Given the description of an element on the screen output the (x, y) to click on. 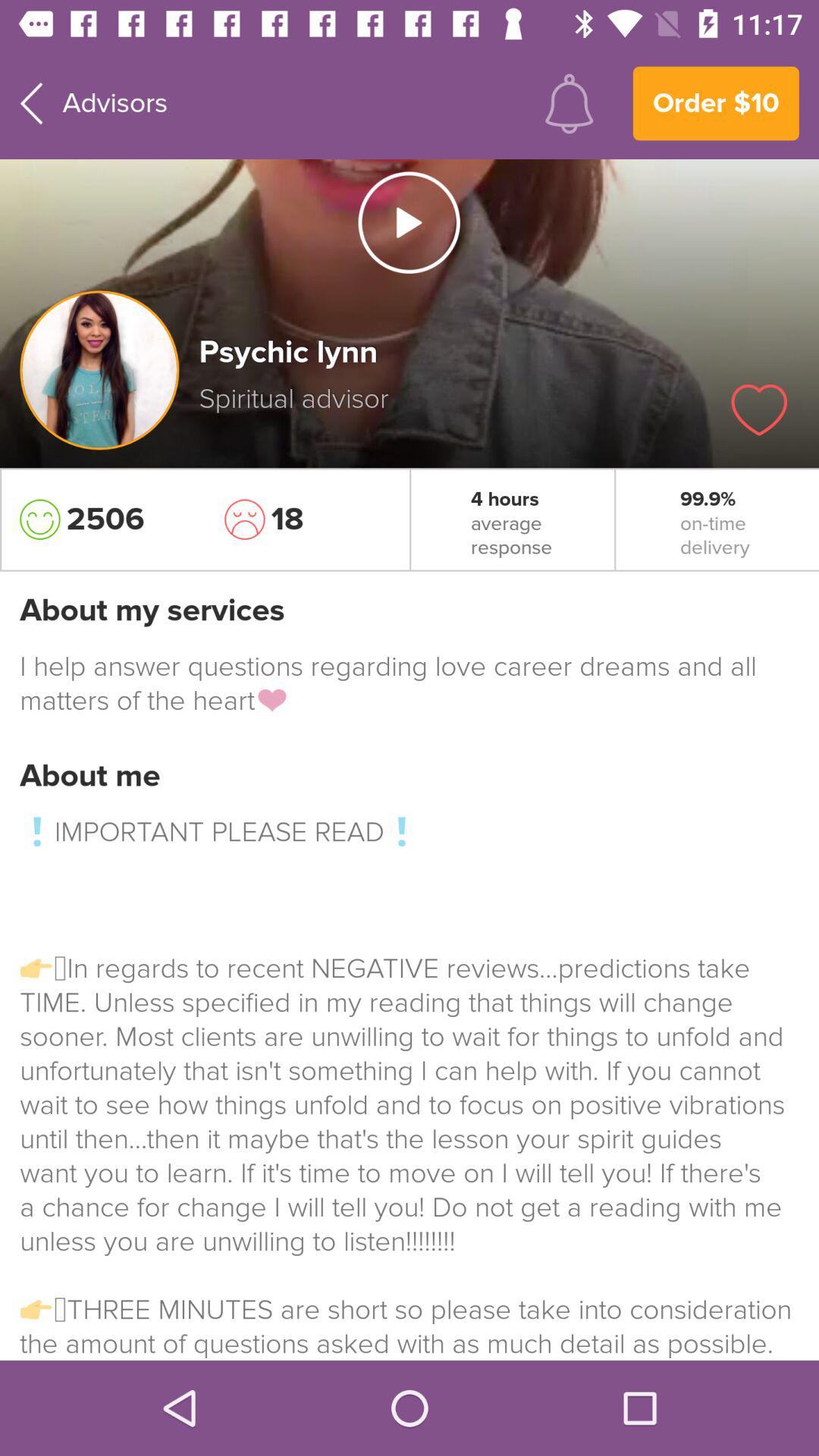
choose icon to the right of the advisors icon (569, 103)
